Given the description of an element on the screen output the (x, y) to click on. 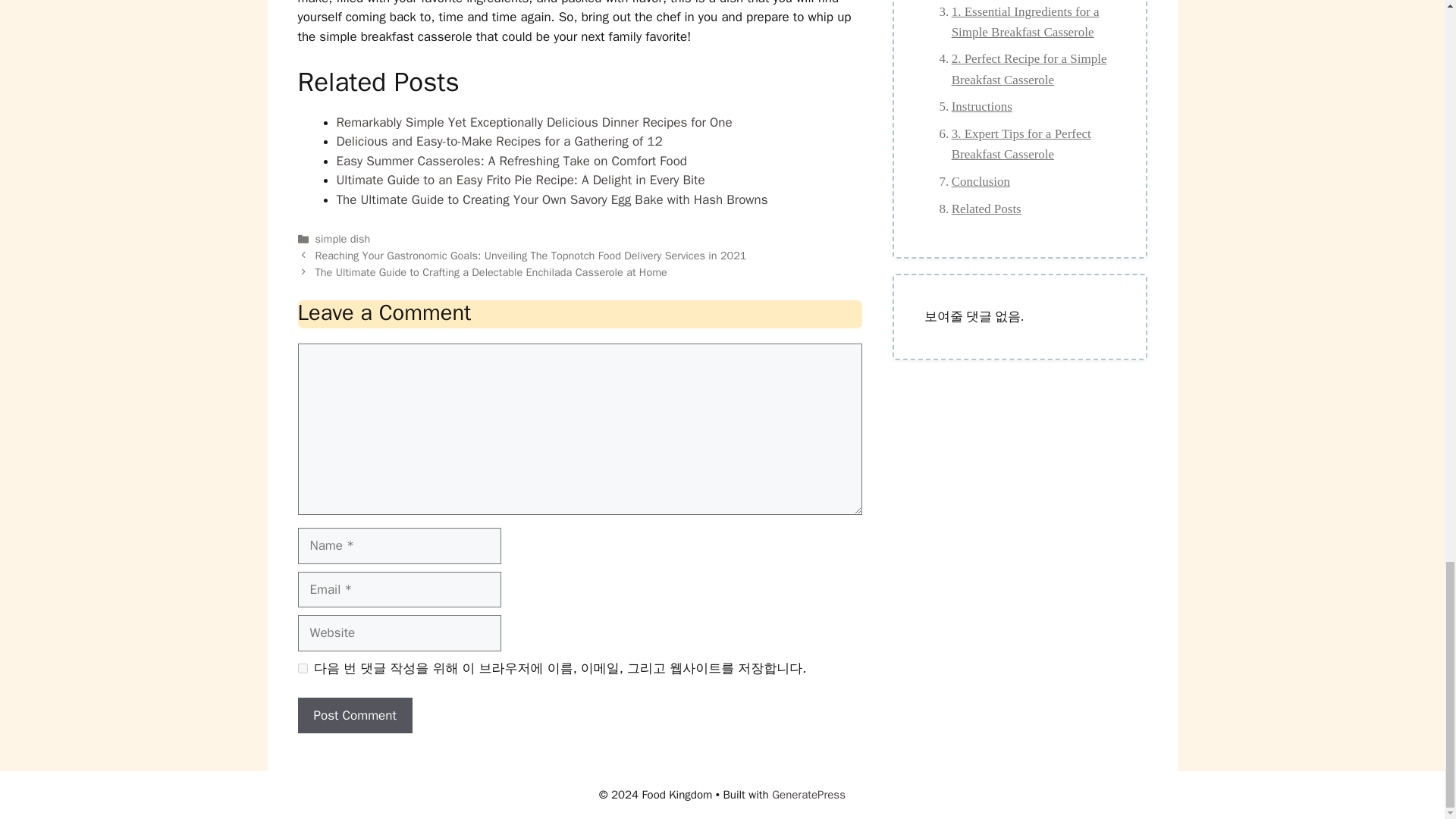
yes (302, 668)
3. Expert Tips for a Perfect Breakfast Casserole (1018, 143)
Conclusion (970, 181)
Delicious and Easy-to-Make Recipes for a Gathering of 12 (499, 141)
Post Comment (354, 715)
